Given the description of an element on the screen output the (x, y) to click on. 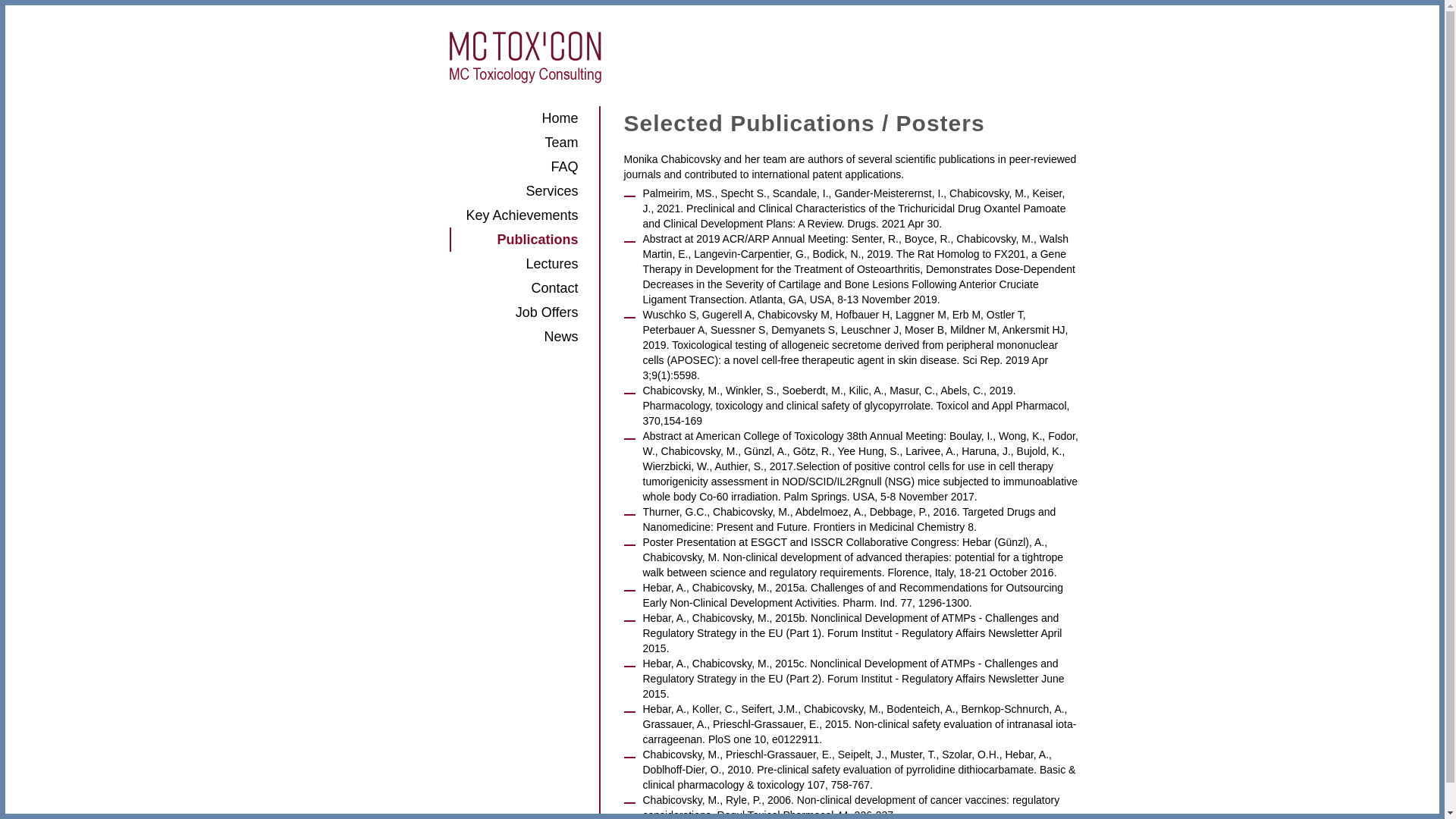
Lectures Element type: text (512, 263)
Key Achievements Element type: text (512, 215)
News Element type: text (512, 336)
Services Element type: text (512, 190)
Contact Element type: text (512, 288)
Home Element type: text (512, 118)
Job Offers Element type: text (512, 312)
FAQ Element type: text (512, 166)
Team Element type: text (512, 142)
